Given the description of an element on the screen output the (x, y) to click on. 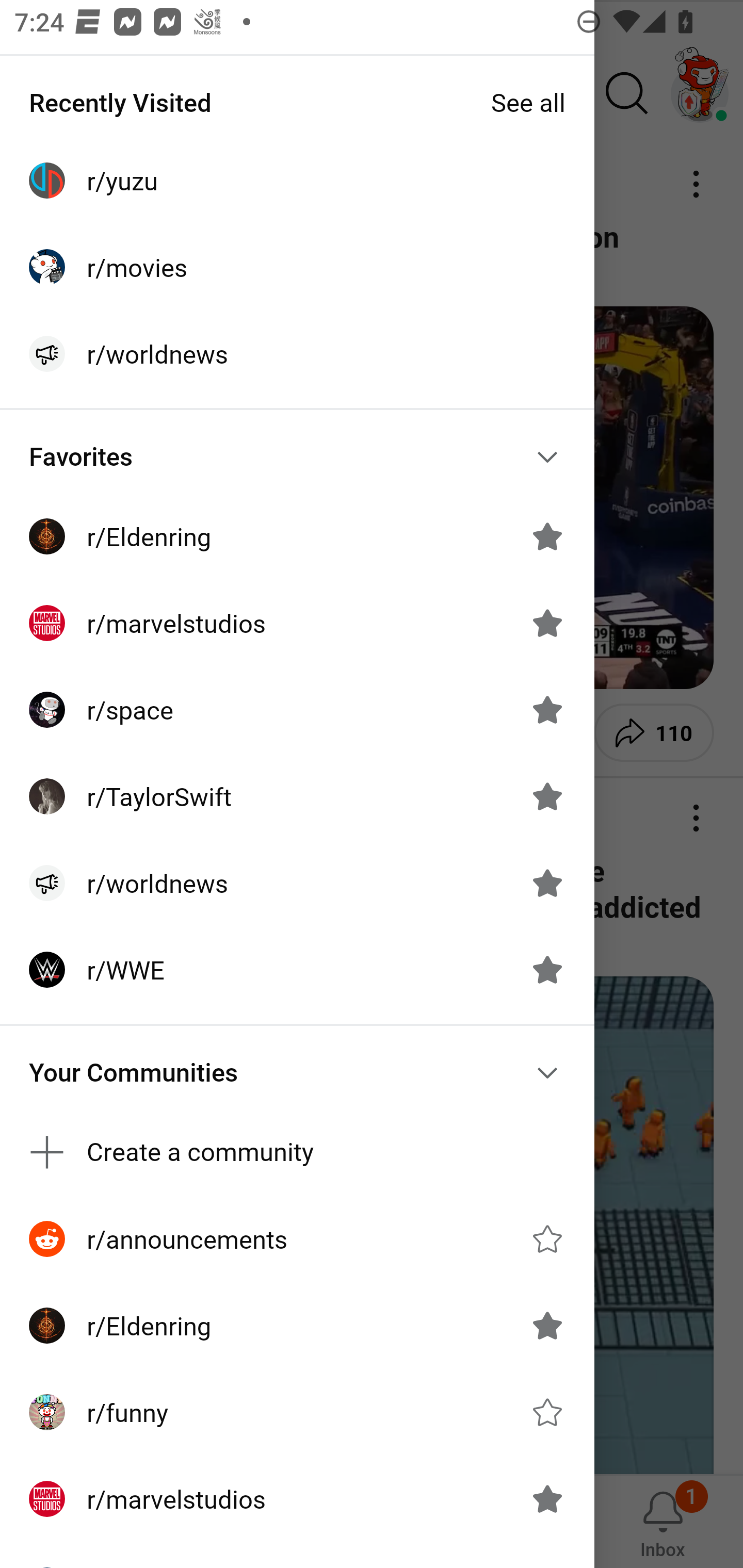
Recently Visited See all (297, 102)
See all (528, 102)
r/yuzu (297, 180)
r/movies (297, 267)
r/worldnews (297, 353)
Favorites (297, 456)
r/Eldenring Unfavorite r/Eldenring (297, 536)
Unfavorite r/Eldenring (546, 536)
r/marvelstudios Unfavorite r/marvelstudios (297, 623)
Unfavorite r/marvelstudios (546, 623)
r/space Unfavorite r/space (297, 709)
Unfavorite r/space (546, 709)
r/TaylorSwift Unfavorite r/TaylorSwift (297, 796)
Unfavorite r/TaylorSwift (546, 796)
r/worldnews Unfavorite r/worldnews (297, 883)
Unfavorite r/worldnews (546, 882)
r/WWE Unfavorite r/WWE (297, 969)
Unfavorite r/WWE (546, 969)
Your Communities (297, 1072)
Create a community (297, 1151)
r/announcements Favorite r/announcements (297, 1238)
Favorite r/announcements (546, 1238)
r/Eldenring Unfavorite r/Eldenring (297, 1325)
Unfavorite r/Eldenring (546, 1325)
r/funny Favorite r/funny (297, 1411)
Favorite r/funny (546, 1411)
r/marvelstudios Unfavorite r/marvelstudios (297, 1498)
Unfavorite r/marvelstudios (546, 1498)
